Given the description of an element on the screen output the (x, y) to click on. 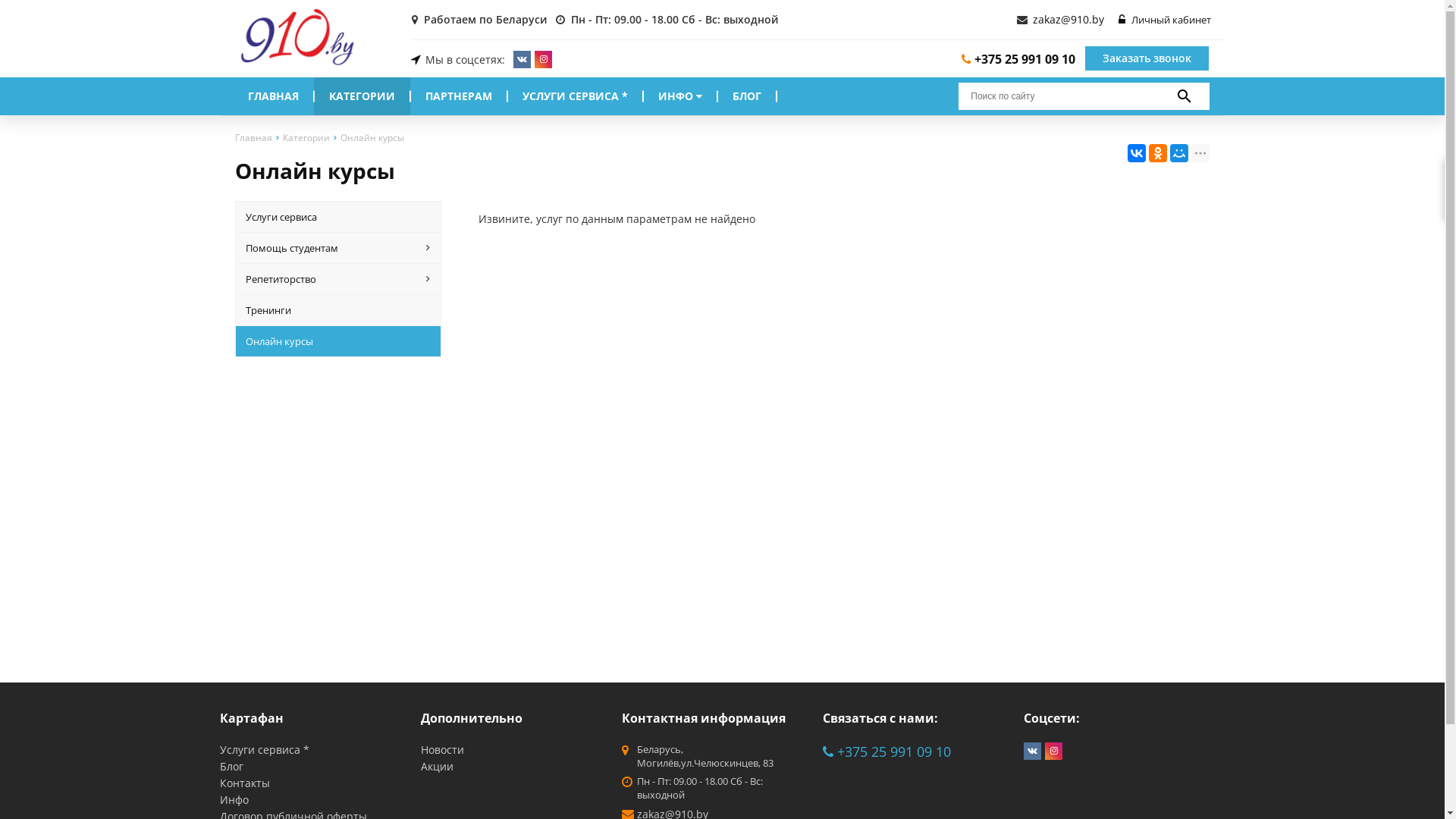
+375 25 991 09 10 Element type: text (886, 752)
+375 25 991 09 10 Element type: text (1018, 59)
zakaz@910.by Element type: text (1068, 19)
search Element type: text (1184, 95)
